Given the description of an element on the screen output the (x, y) to click on. 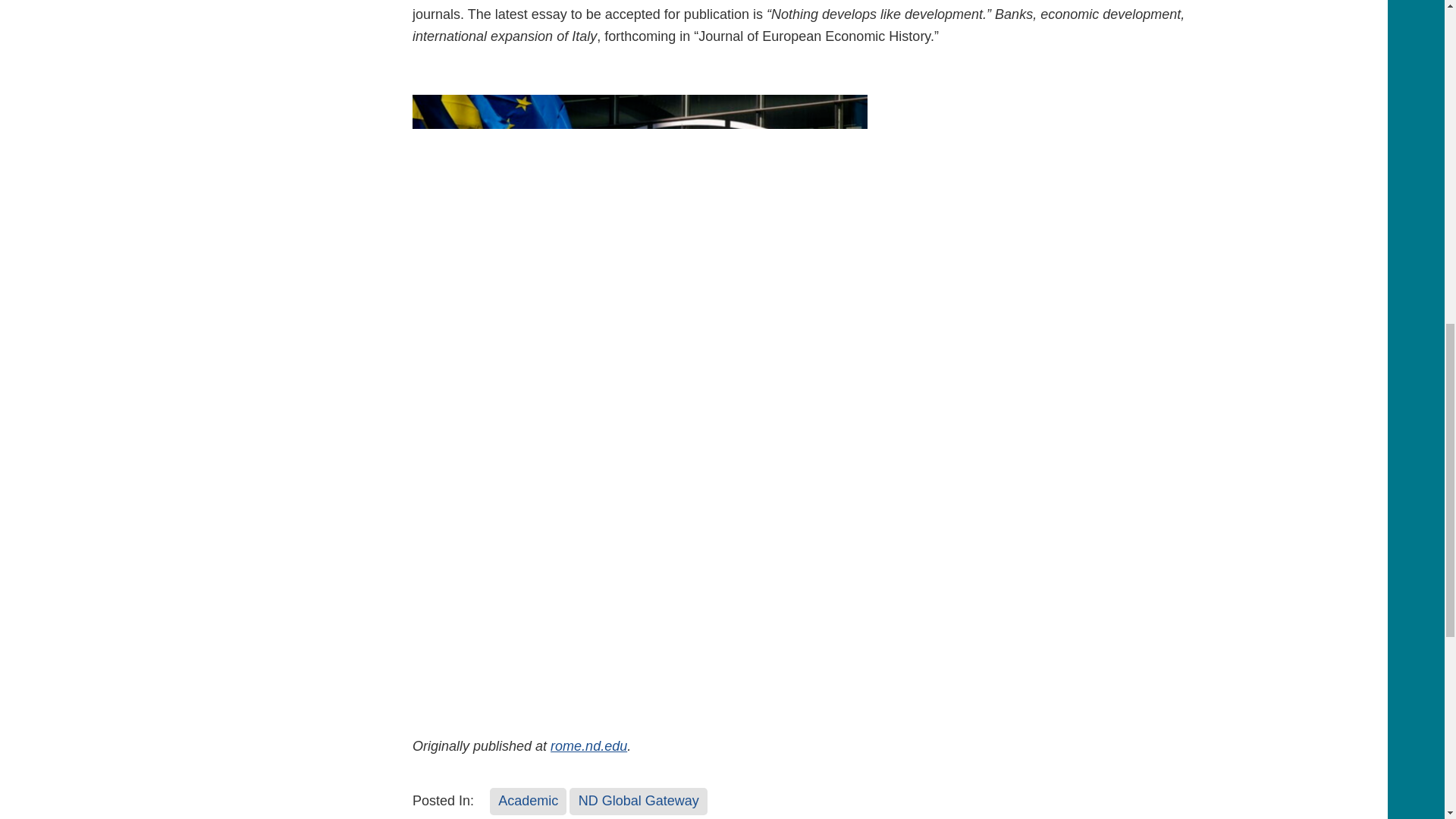
ND Global Gateway (637, 800)
rome.nd.edu (588, 745)
Academic (527, 800)
